Given the description of an element on the screen output the (x, y) to click on. 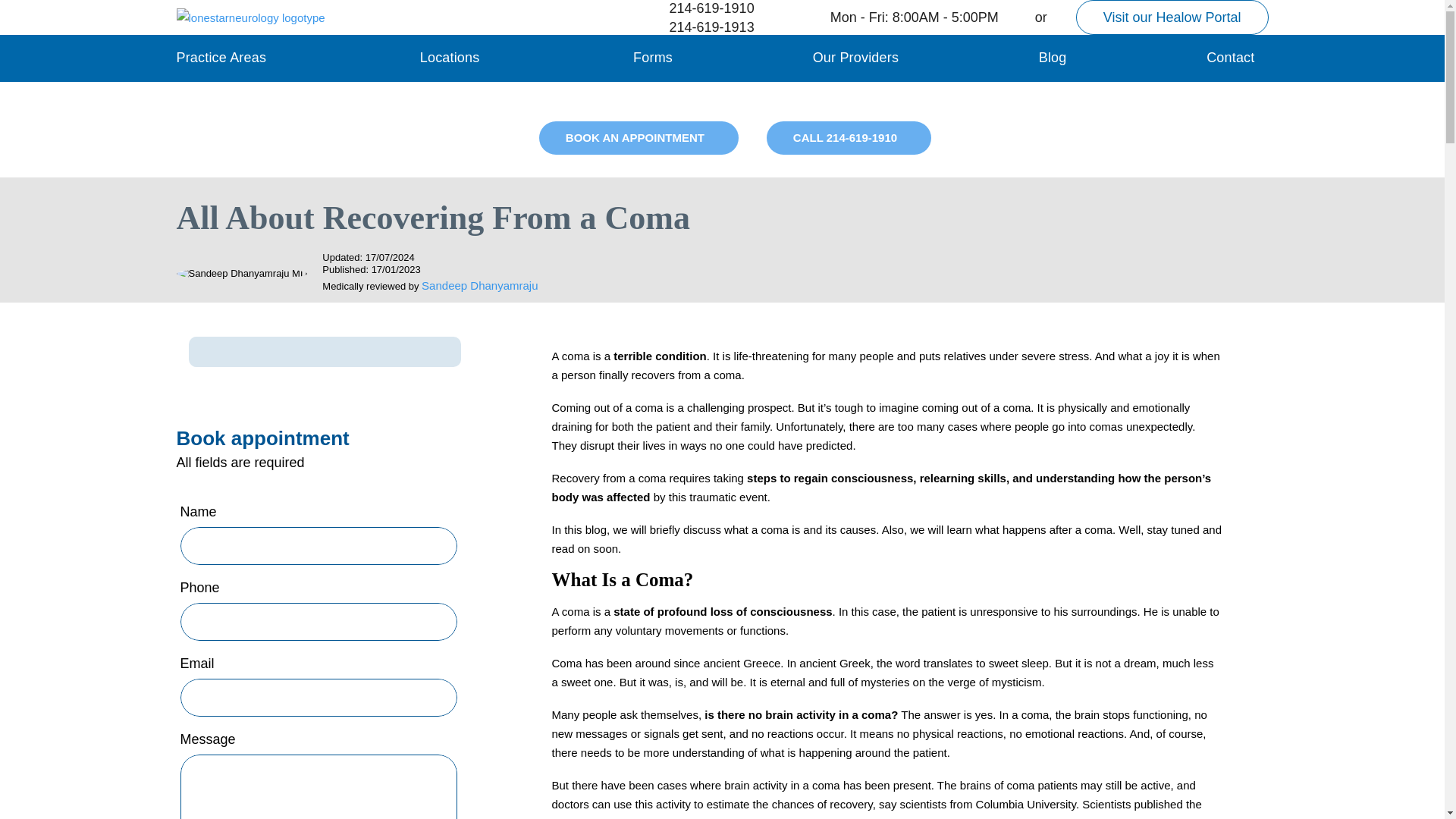
Practice Areas (221, 57)
Forms (652, 57)
Visit our Healow Portal (1171, 17)
214-619-1913 (698, 27)
Locations (450, 57)
214-619-1910 (698, 7)
